Given the description of an element on the screen output the (x, y) to click on. 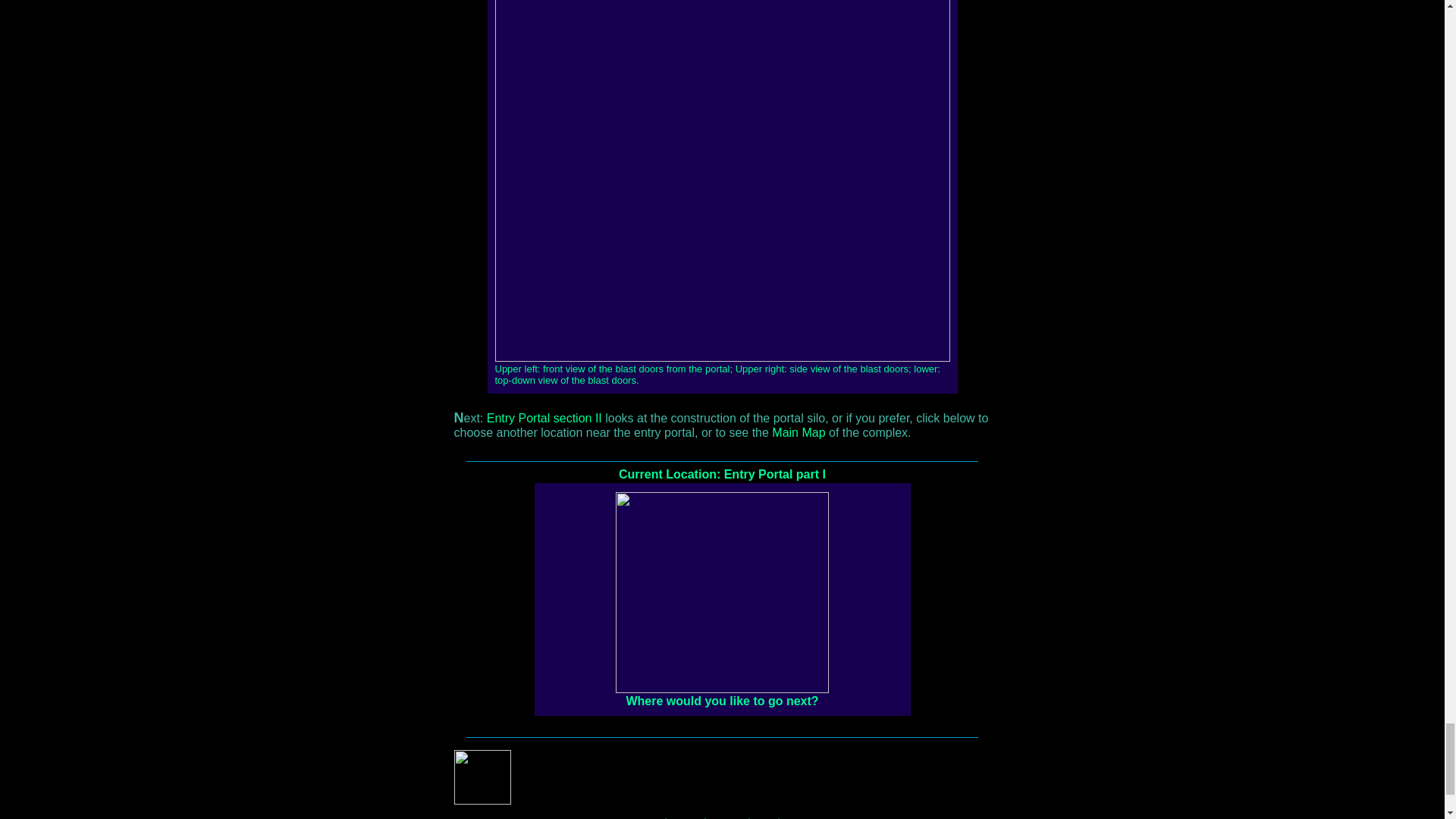
Main Map (798, 433)
Entry Portal section II (544, 419)
